Given the description of an element on the screen output the (x, y) to click on. 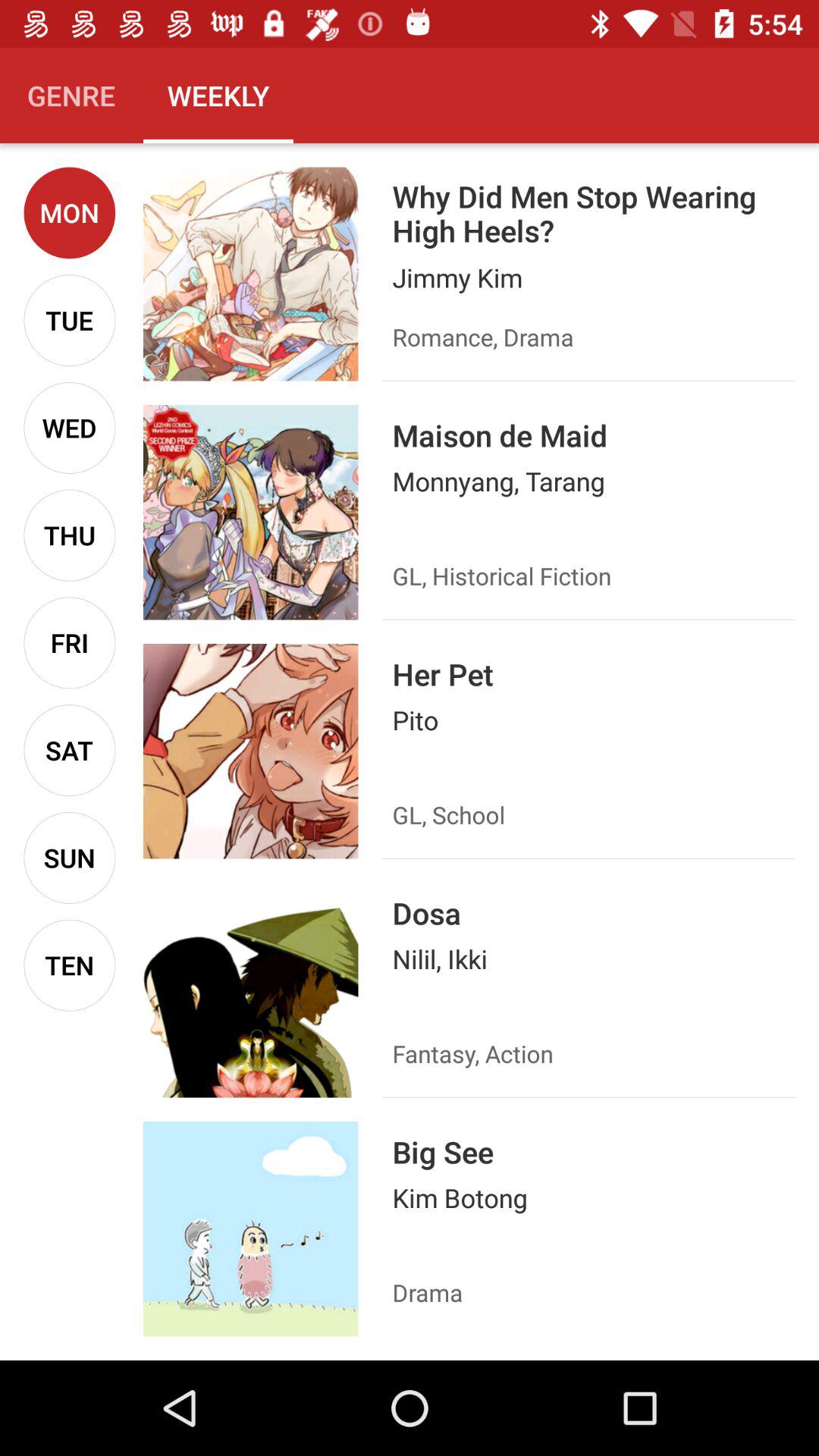
click the icon below sat icon (69, 857)
